Given the description of an element on the screen output the (x, y) to click on. 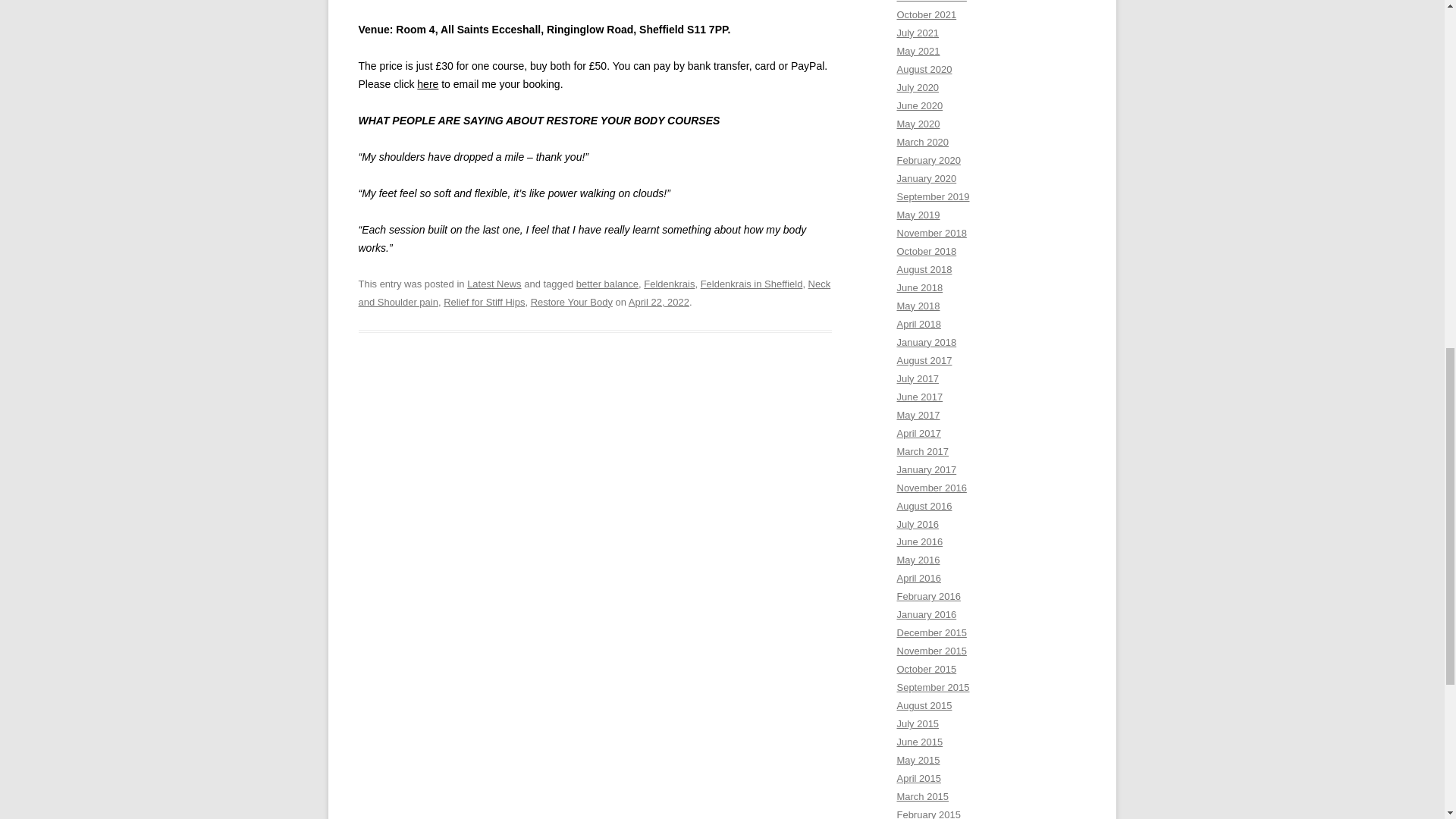
here (427, 83)
Feldenkrais in Sheffield (751, 283)
better balance (607, 283)
Feldenkrais (668, 283)
Latest News (494, 283)
April 22, 2022 (658, 301)
Restore Your Body (571, 301)
3:39 pm (658, 301)
Neck and Shoulder pain (593, 292)
Relief for Stiff Hips (484, 301)
